Given the description of an element on the screen output the (x, y) to click on. 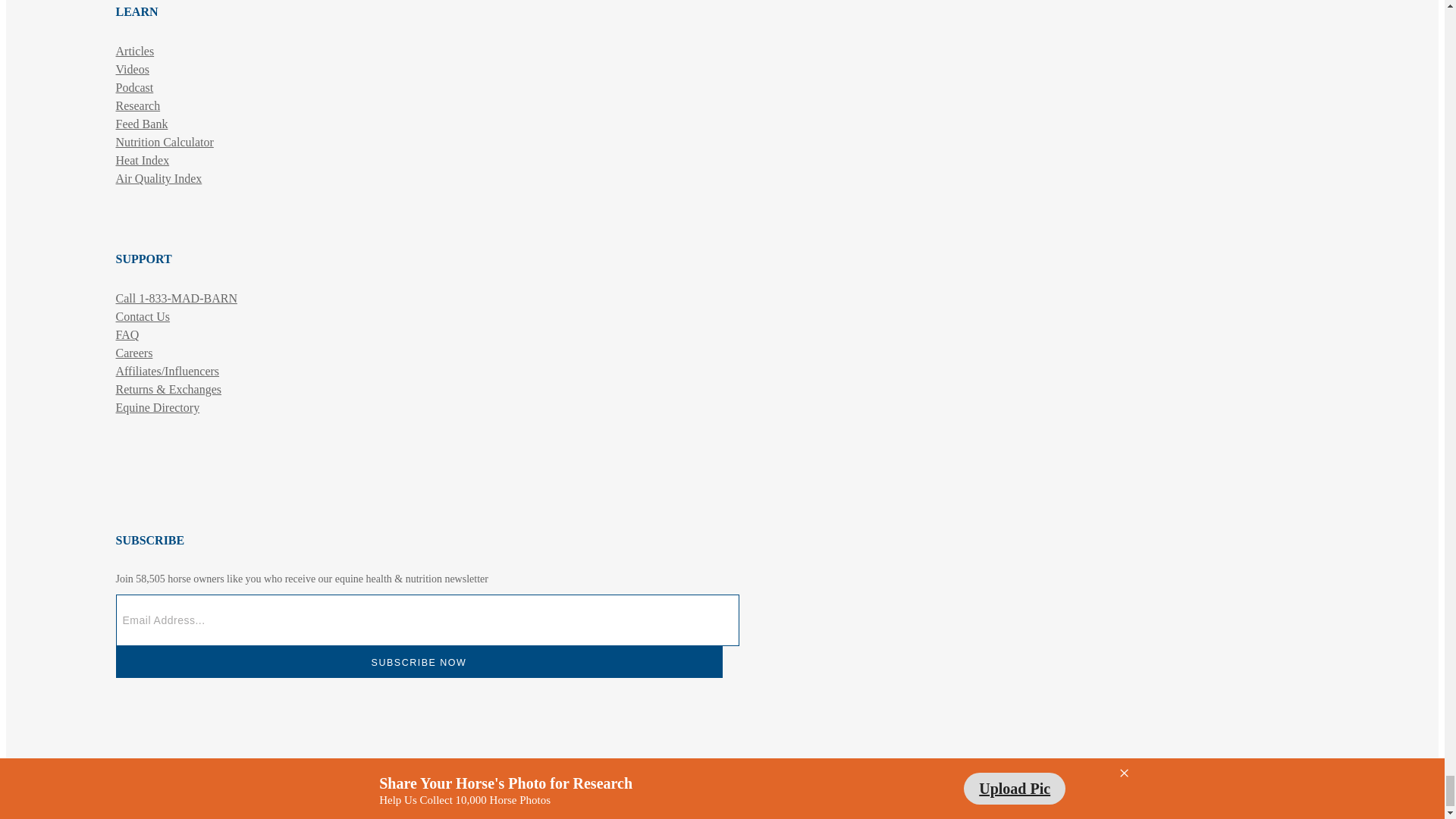
Subscribe Now (418, 662)
